Given the description of an element on the screen output the (x, y) to click on. 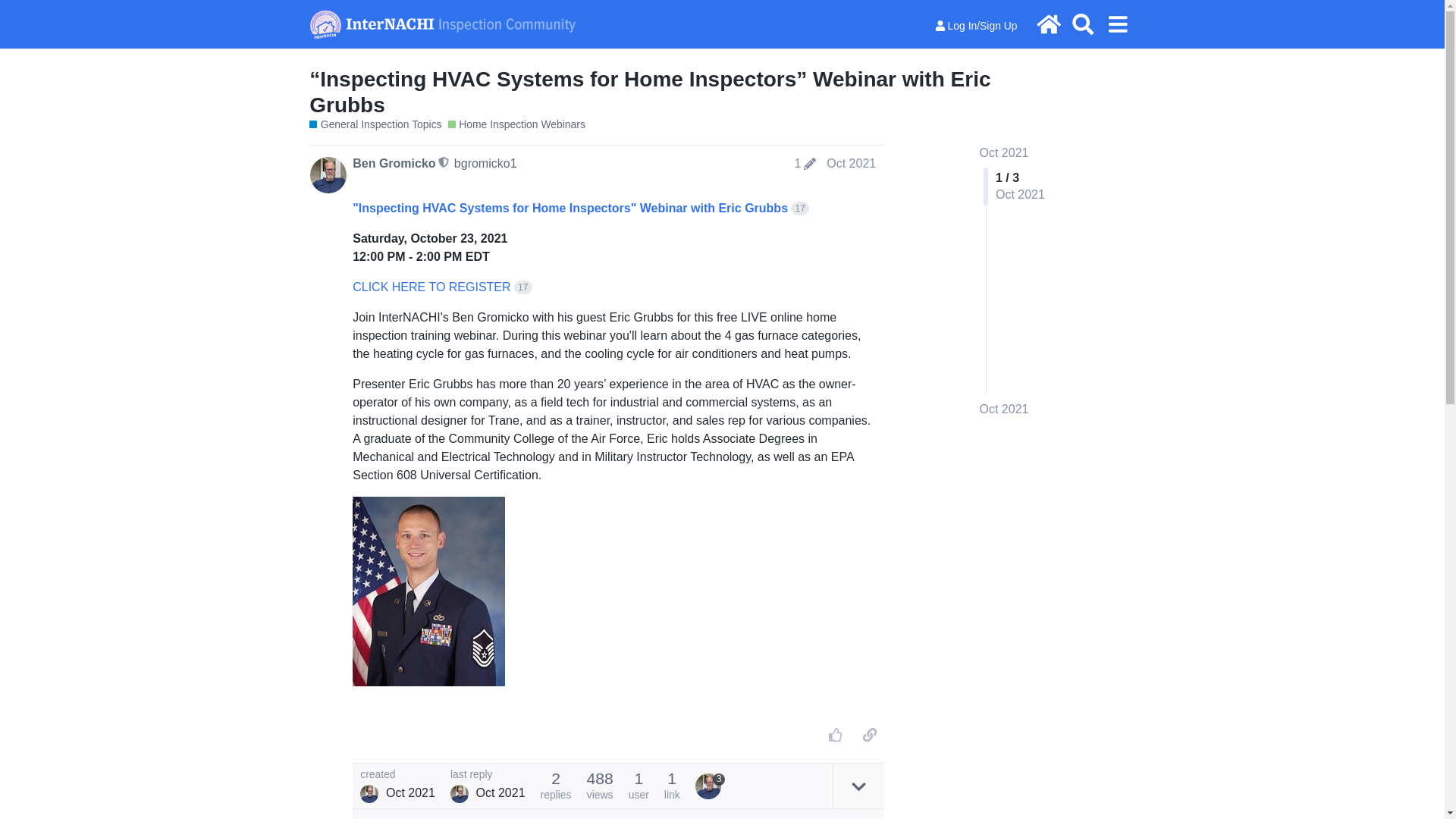
bgromicko1 (485, 162)
17 clicks (522, 286)
1 (805, 163)
expand topic details (857, 785)
CLICK HERE TO REGISTER 17 (441, 286)
Oct 2021 (851, 162)
This user is a moderator (443, 162)
Jump to the first post (1004, 152)
Search (1082, 23)
copy a link to this post to clipboard (869, 734)
Oct 2021 (1004, 409)
like this post (835, 734)
post last edited on Oct 14, 2021 5:05 am (805, 163)
last reply (487, 774)
InterNACHI Home (1048, 23)
